Given the description of an element on the screen output the (x, y) to click on. 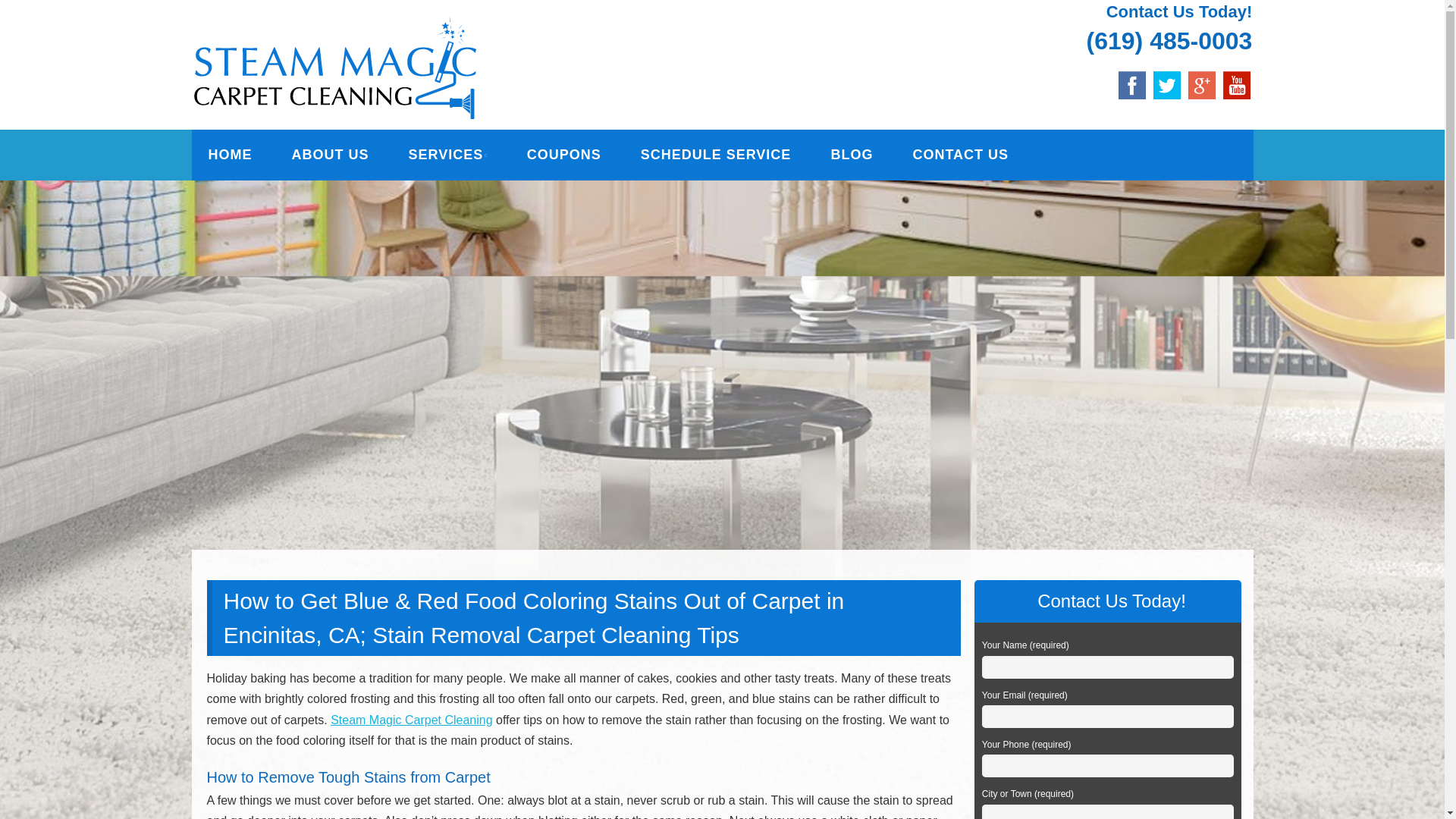
BLOG (851, 154)
STEAM MAGIC CARPET CLEANING (459, 35)
Steam Magic Carpet Cleaning (411, 719)
ABOUT US (329, 154)
CONTACT US (960, 154)
COUPONS (563, 154)
SCHEDULE SERVICE (716, 154)
Steam Magic Carpet Cleaning (459, 35)
HOME (229, 154)
SERVICES (447, 154)
